Given the description of an element on the screen output the (x, y) to click on. 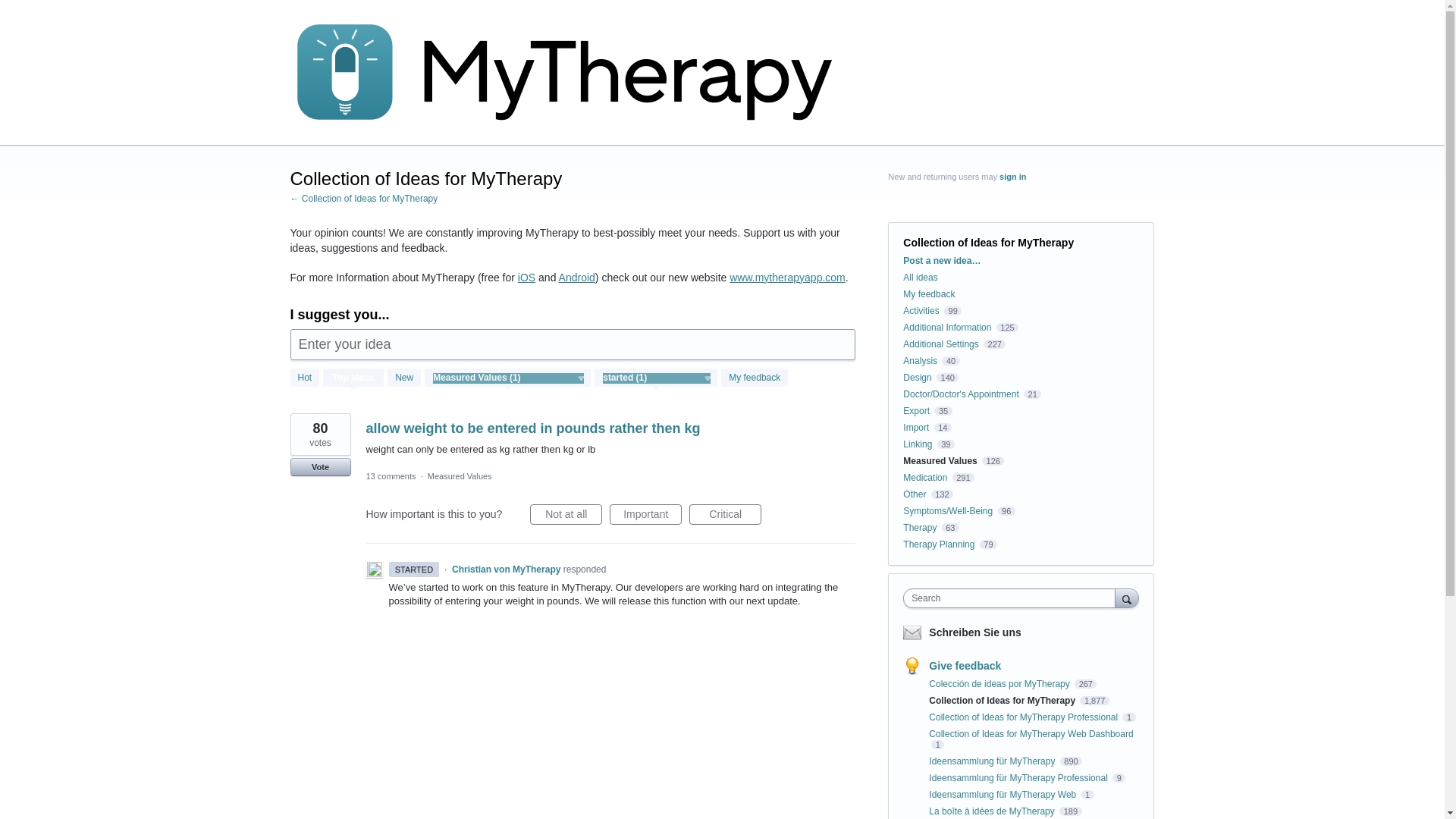
Skip to content (12, 12)
allow weight to be entered in pounds rather then kg (532, 427)
www.mytherapyapp.com (787, 277)
Top ideas (353, 379)
My feedback (753, 377)
This idea is started - updated over 7 years ago (413, 569)
Vote (319, 466)
View all ideas in category Activities (920, 310)
New (403, 377)
